Given the description of an element on the screen output the (x, y) to click on. 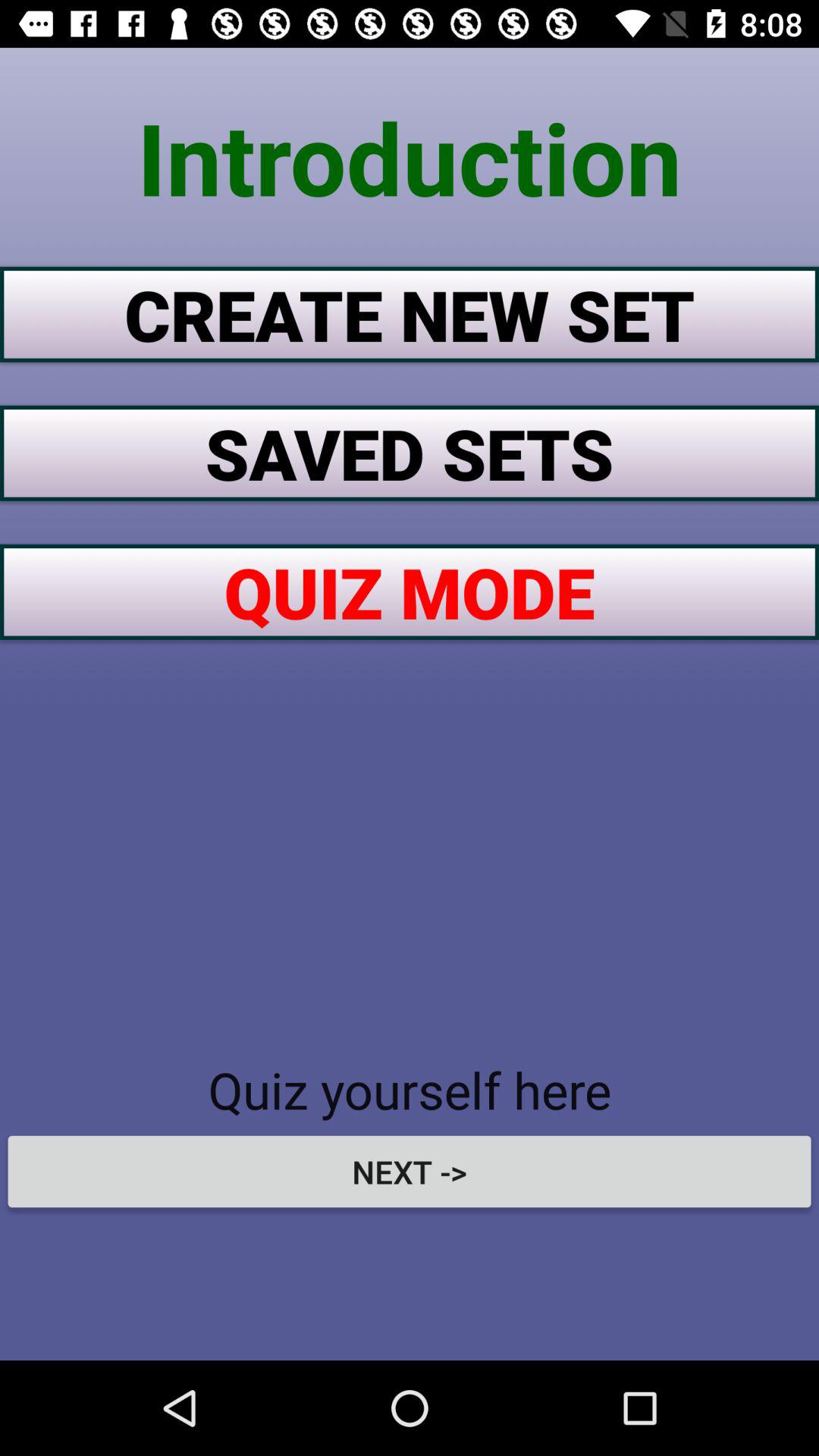
click next -> icon (409, 1171)
